Given the description of an element on the screen output the (x, y) to click on. 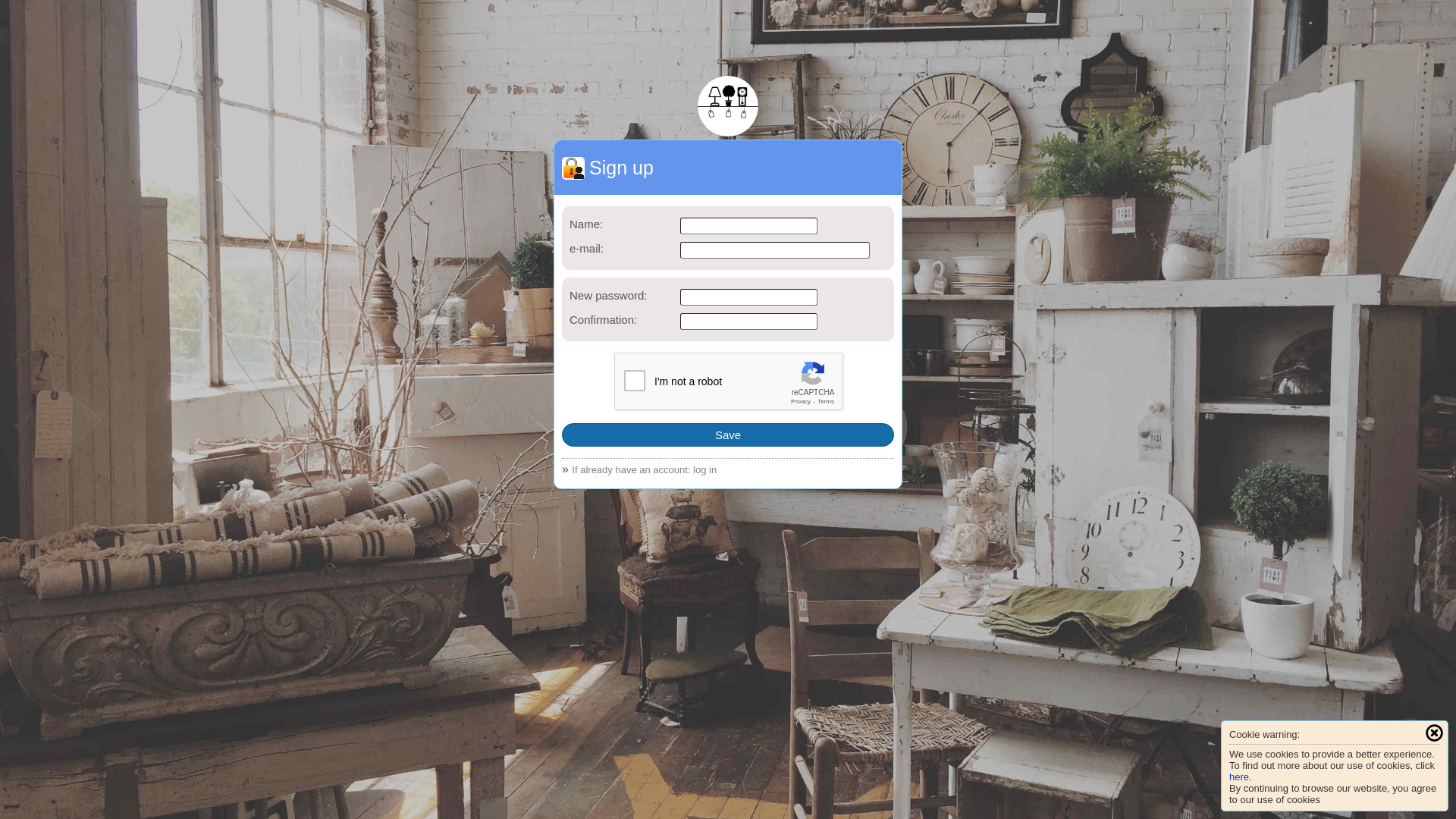
Save Element type: text (727, 434)
If already have an account: log in Element type: text (643, 469)
Go to Web Constructor home page Element type: hover (727, 105)
here Element type: text (1238, 776)
reCAPTCHA Element type: hover (729, 381)
